Given the description of an element on the screen output the (x, y) to click on. 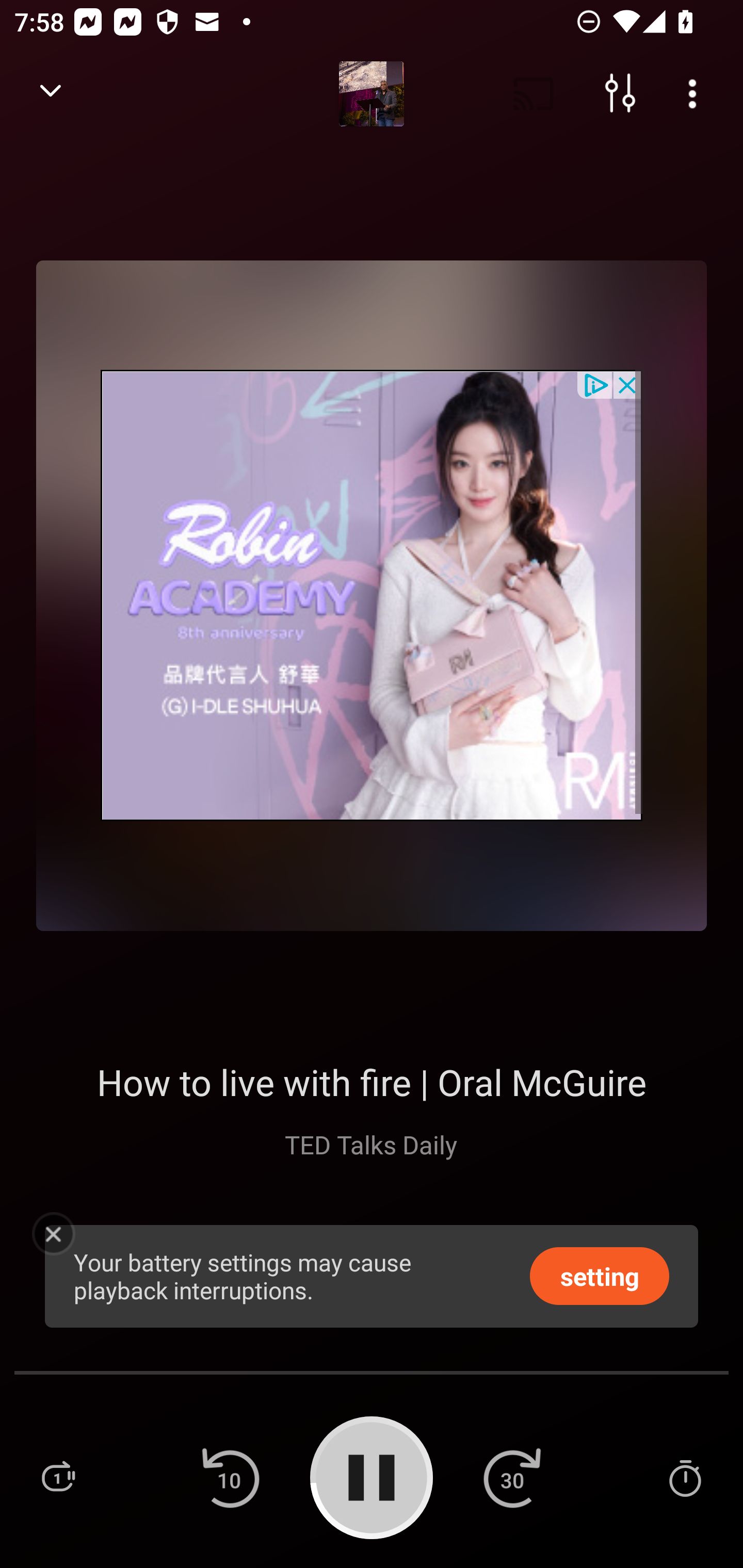
 Back (50, 94)
How to live with fire | Oral McGuire (371, 1081)
TED Talks Daily (371, 1144)
setting (599, 1275)
 Playlist (57, 1477)
Sleep Timer  (684, 1477)
